Given the description of an element on the screen output the (x, y) to click on. 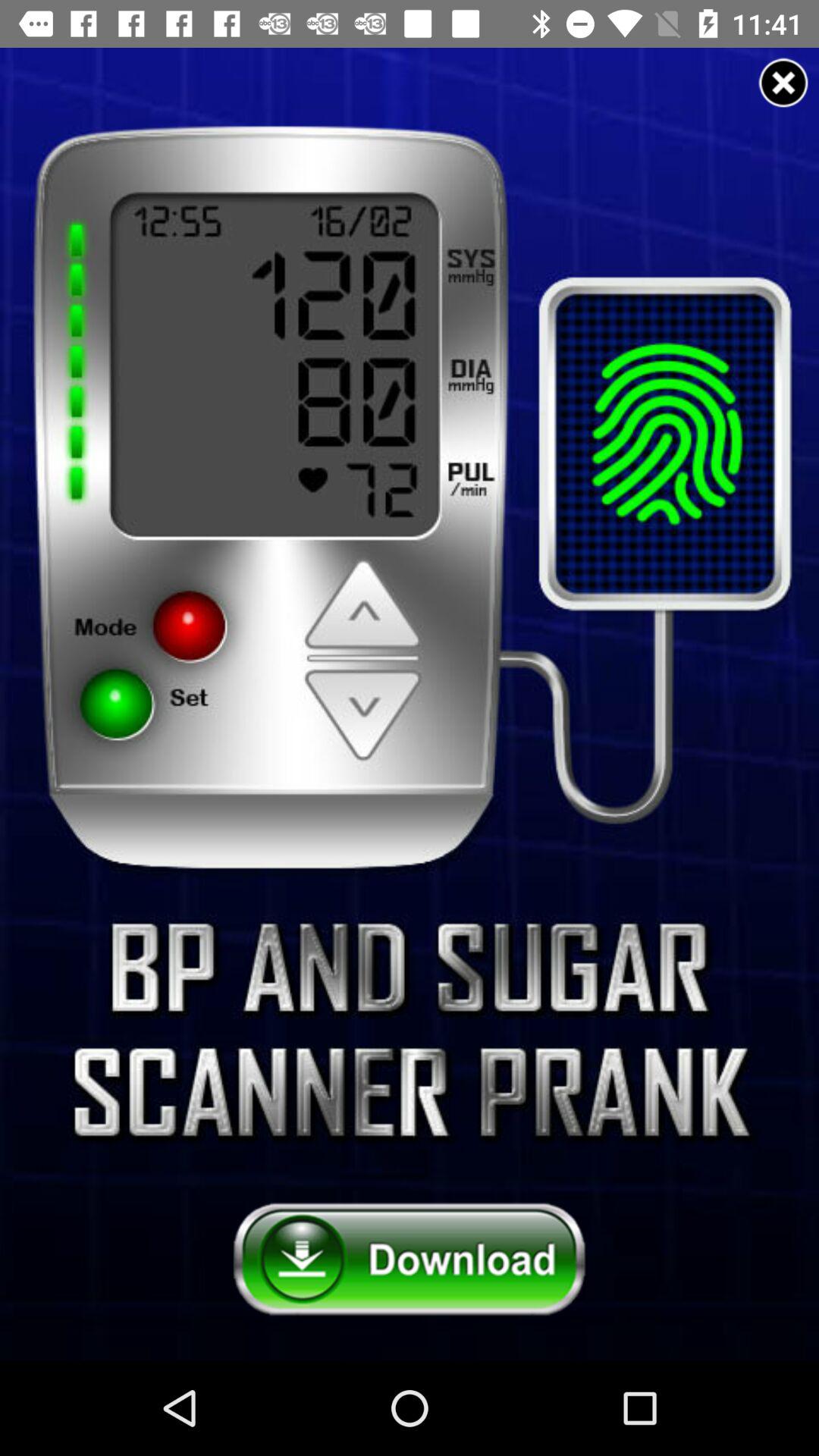
close window (783, 83)
